Given the description of an element on the screen output the (x, y) to click on. 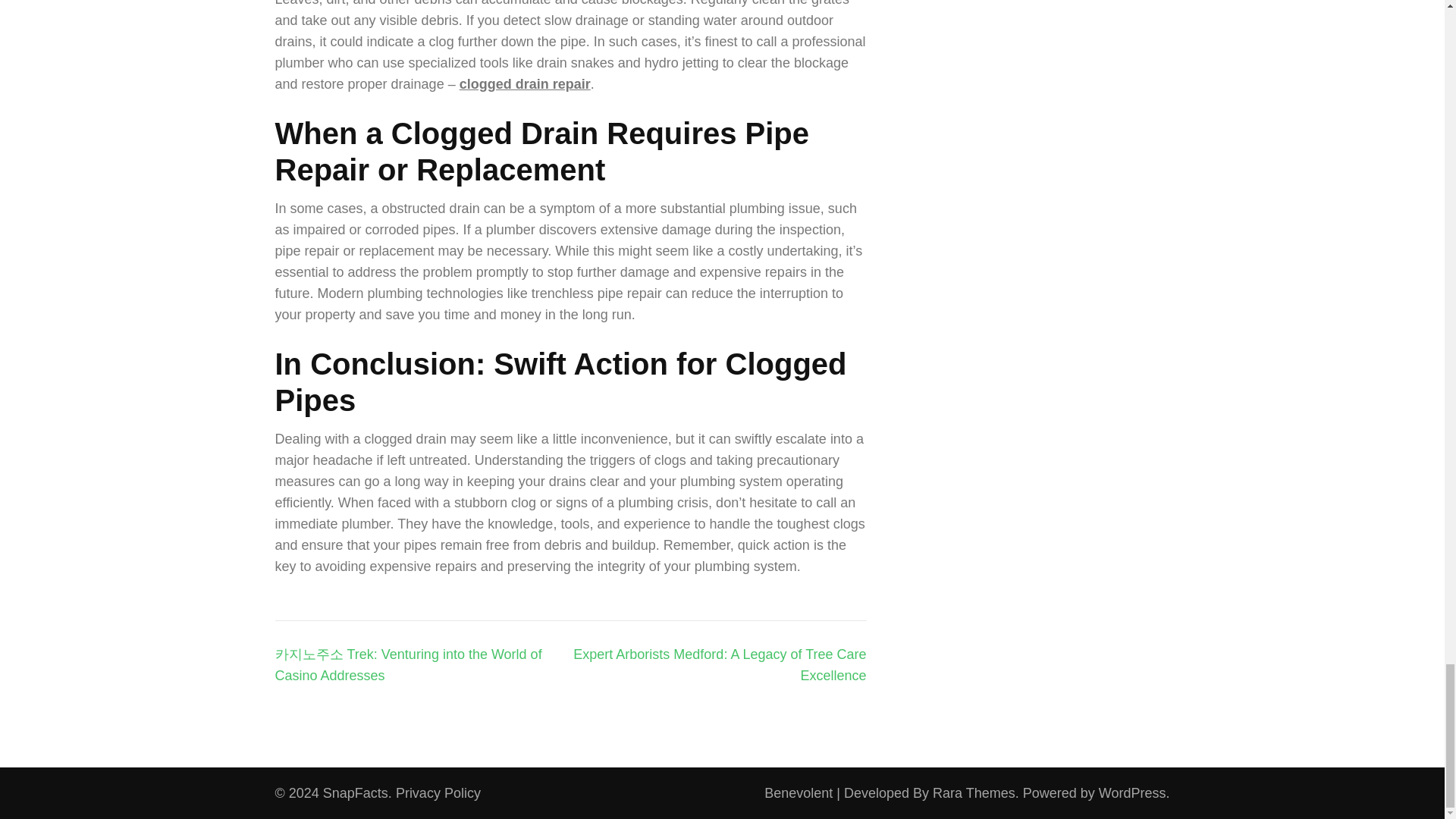
clogged drain repair (525, 83)
Expert Arborists Medford: A Legacy of Tree Care Excellence (719, 665)
